Given the description of an element on the screen output the (x, y) to click on. 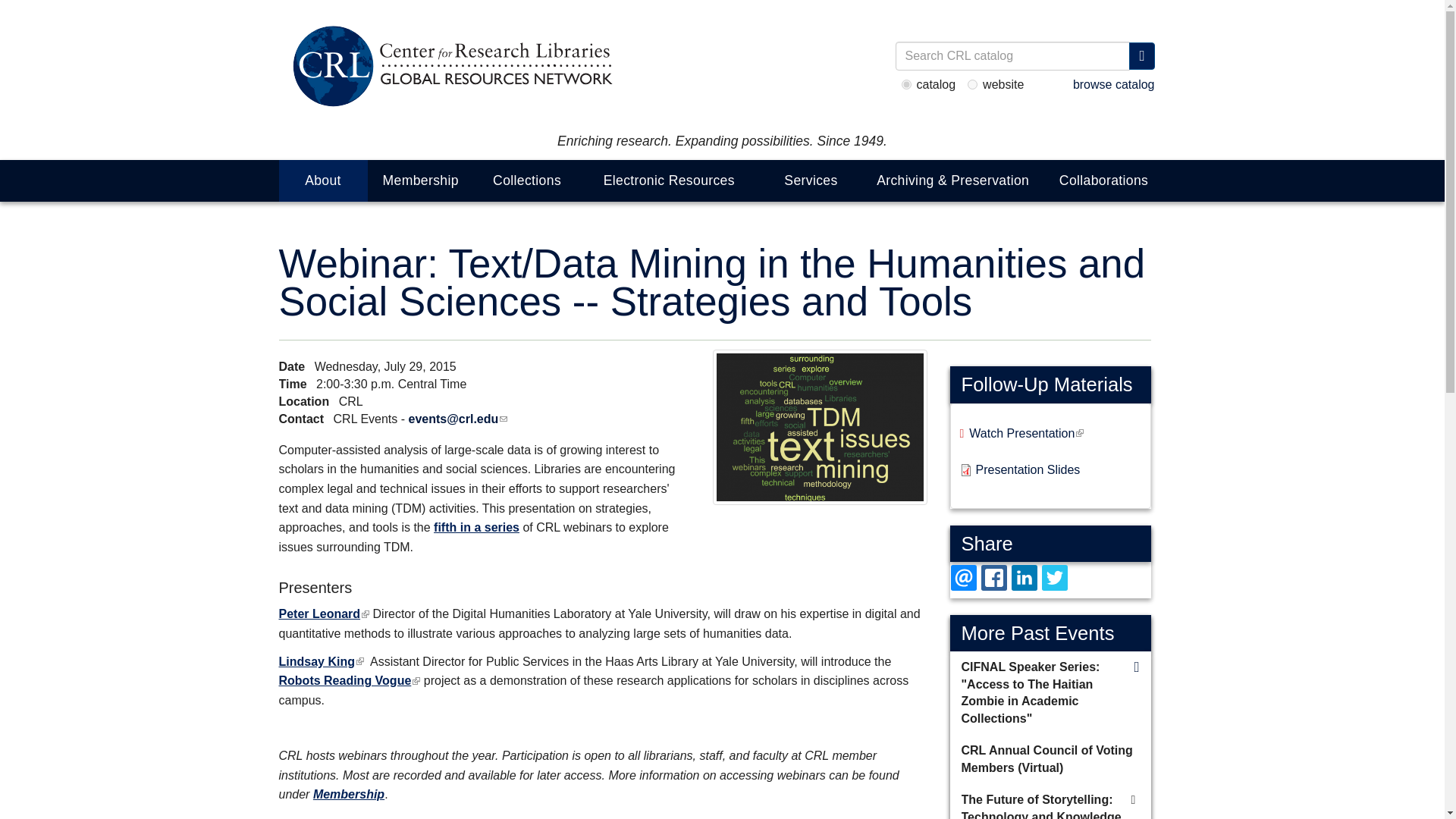
About (323, 180)
TDM2015.pdf (1027, 473)
browse catalog (1113, 83)
Featured (1136, 667)
website (972, 84)
Collections (526, 180)
Home (450, 66)
catalog (906, 84)
Membership (419, 180)
video available (1132, 800)
